Given the description of an element on the screen output the (x, y) to click on. 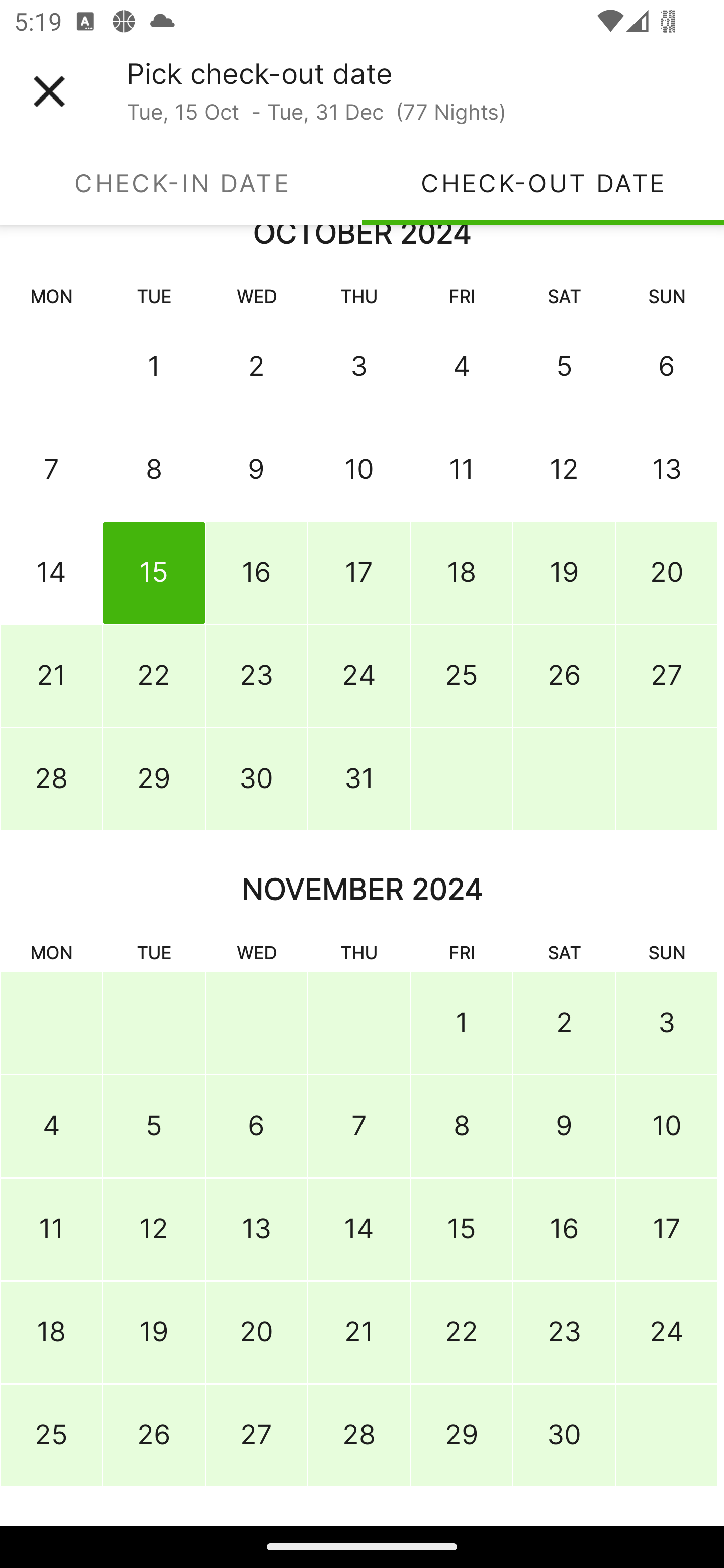
Check-in Date CHECK-IN DATE (181, 183)
